Given the description of an element on the screen output the (x, y) to click on. 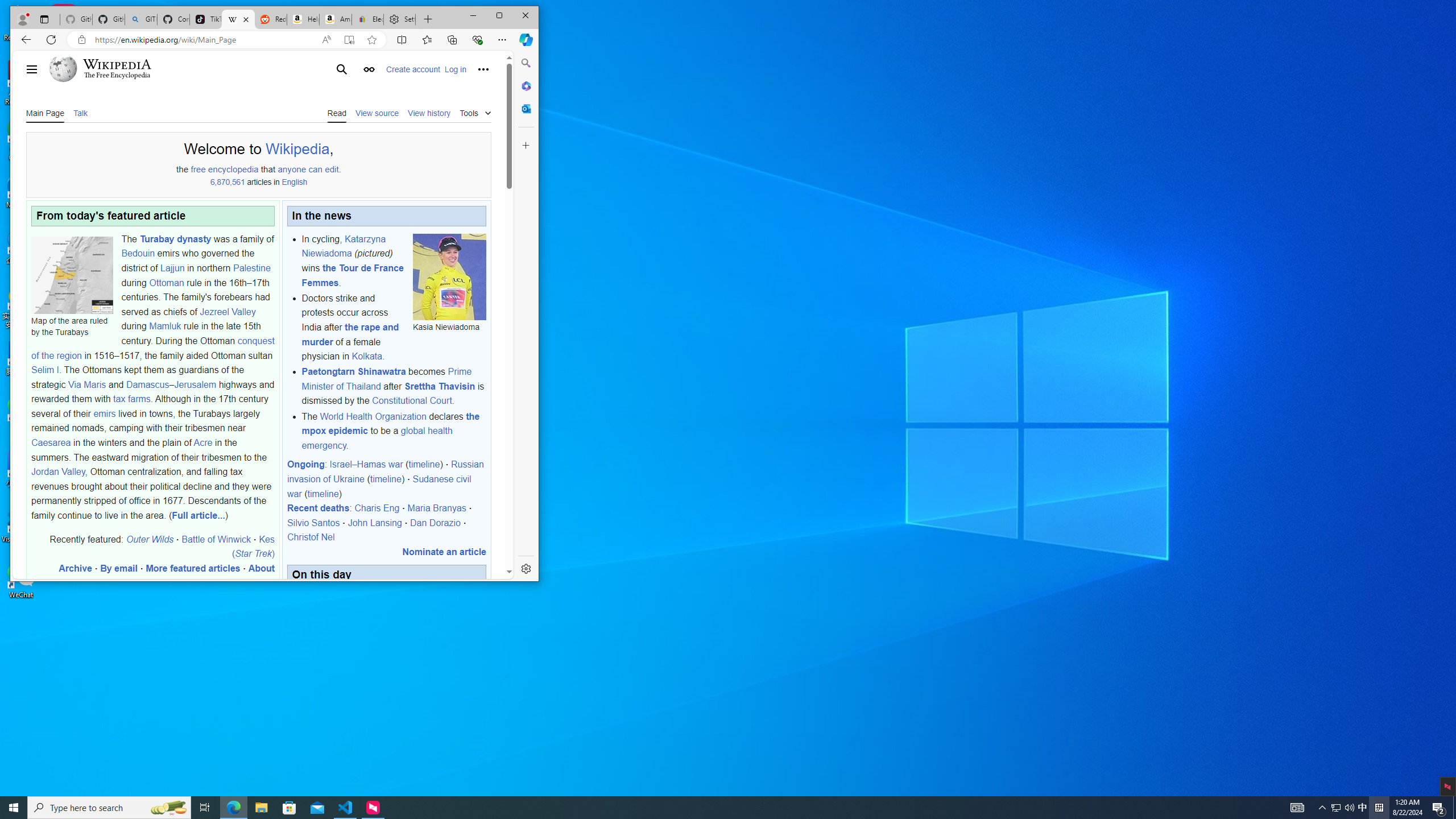
anyone can edit (308, 169)
Battle of Winwick (216, 538)
Type here to search (108, 807)
Dan Dorazio (435, 522)
Kasia Niewiadoma (449, 276)
tax farms (132, 398)
Charis Eng (376, 508)
Srettha Thavisin (439, 385)
Kes (Star Trek) (253, 546)
